Given the description of an element on the screen output the (x, y) to click on. 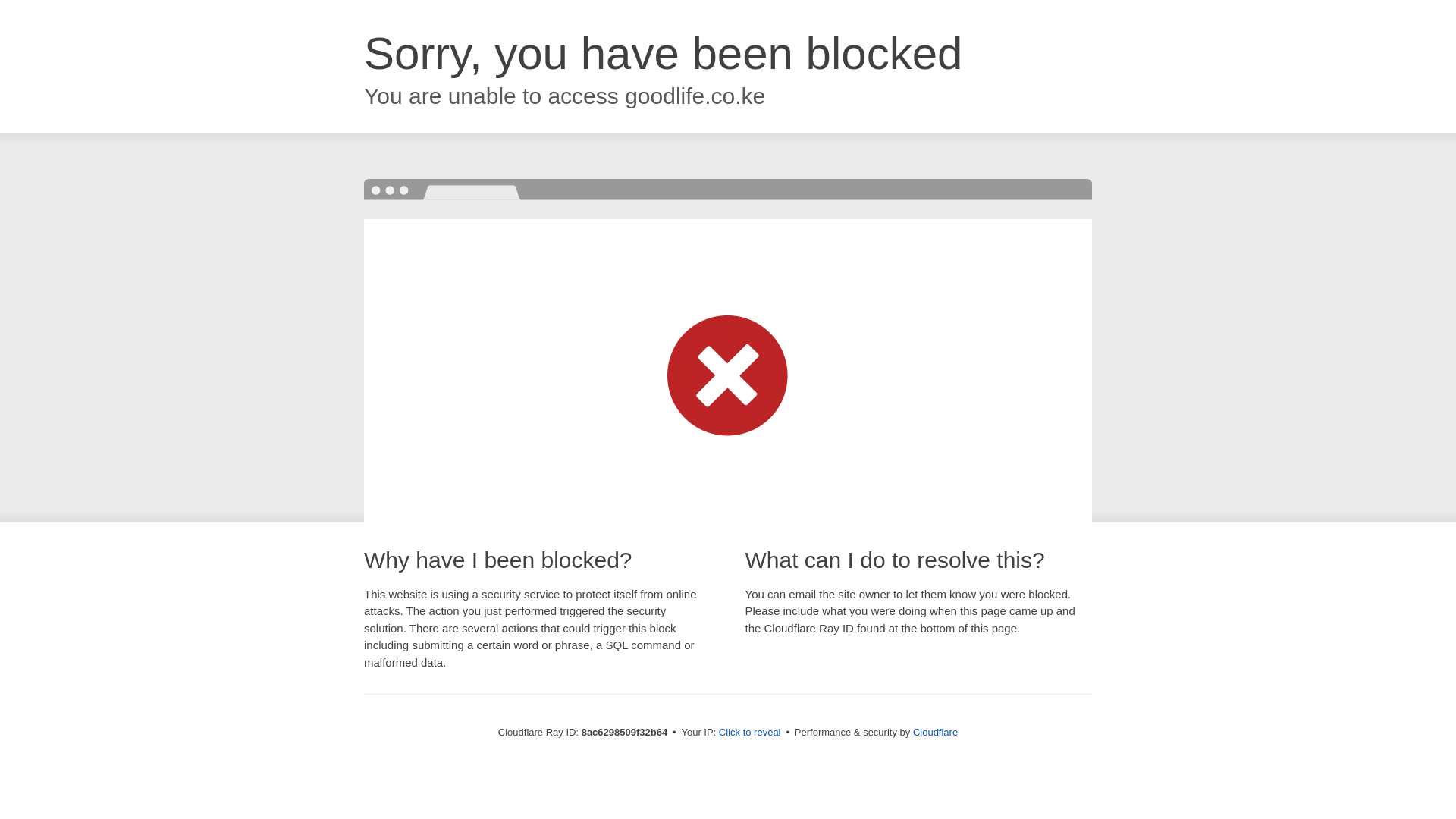
Click to reveal (750, 732)
Cloudflare (936, 731)
